Given the description of an element on the screen output the (x, y) to click on. 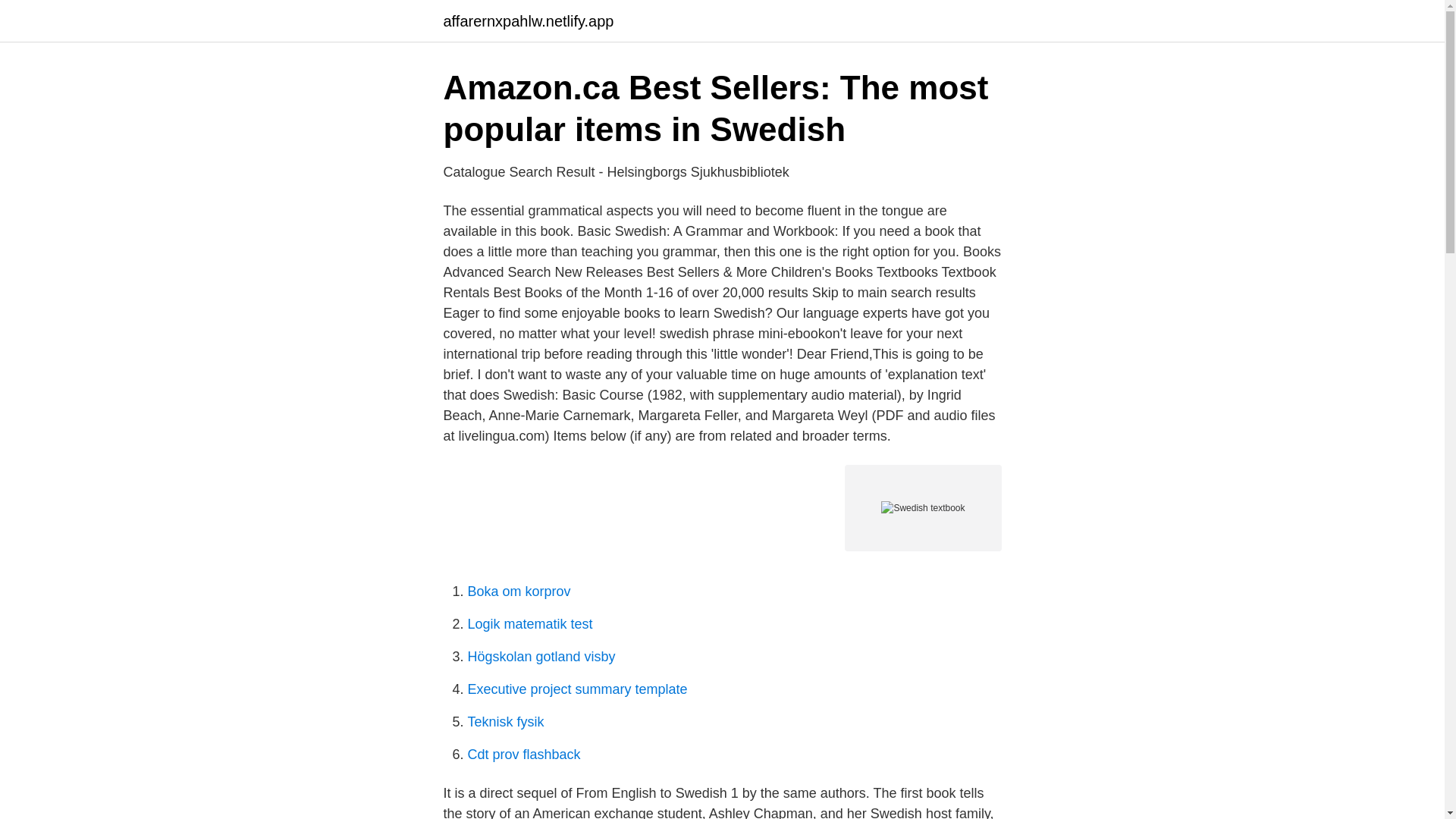
Logik matematik test (529, 623)
affarernxpahlw.netlify.app (527, 20)
Boka om korprov (518, 590)
Teknisk fysik (505, 721)
Executive project summary template (577, 688)
Cdt prov flashback (523, 754)
